Given the description of an element on the screen output the (x, y) to click on. 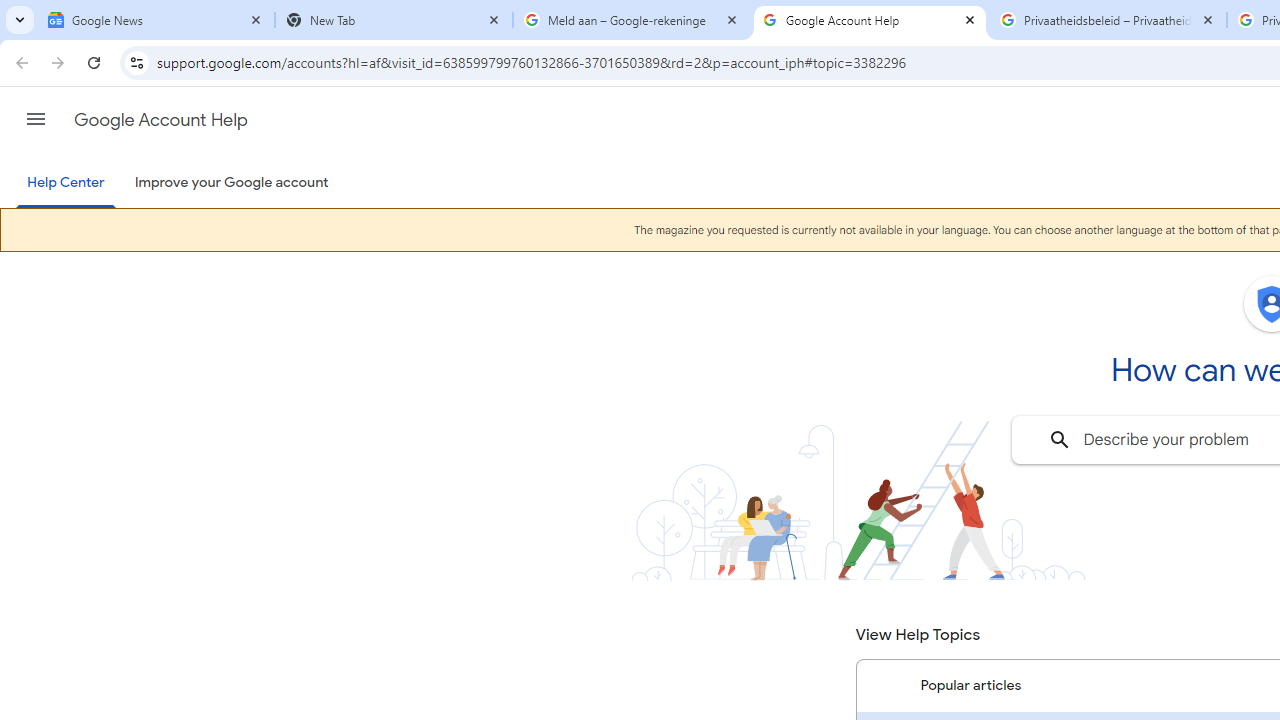
Improve your Google account (231, 183)
Main menu (35, 119)
To search (1059, 439)
Help Center (65, 183)
Google Account Help (870, 20)
New Tab (394, 20)
Google News (156, 20)
Google Account Help (160, 119)
